Given the description of an element on the screen output the (x, y) to click on. 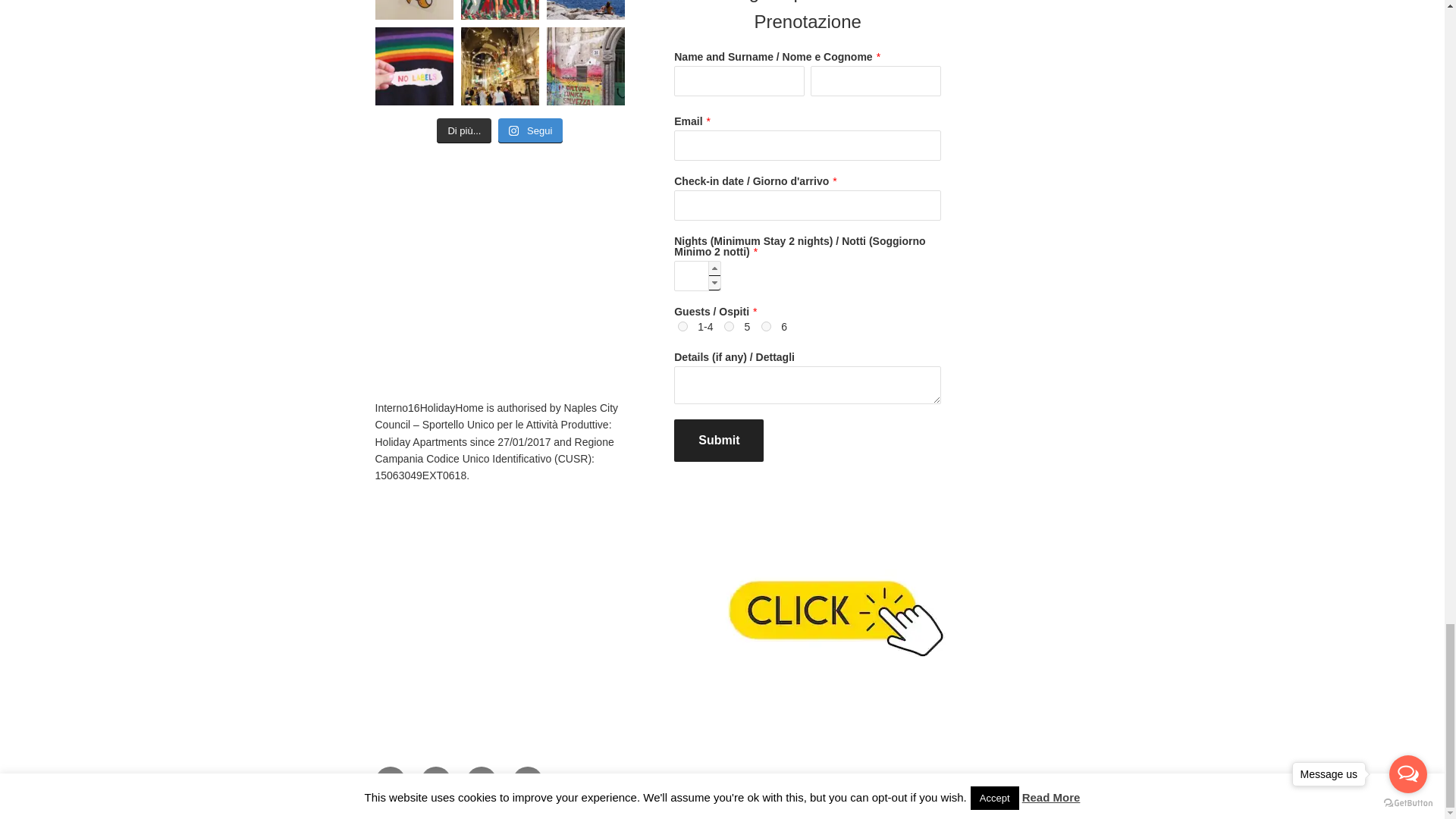
1-4 (682, 326)
5 (728, 326)
6 (766, 326)
